Given the description of an element on the screen output the (x, y) to click on. 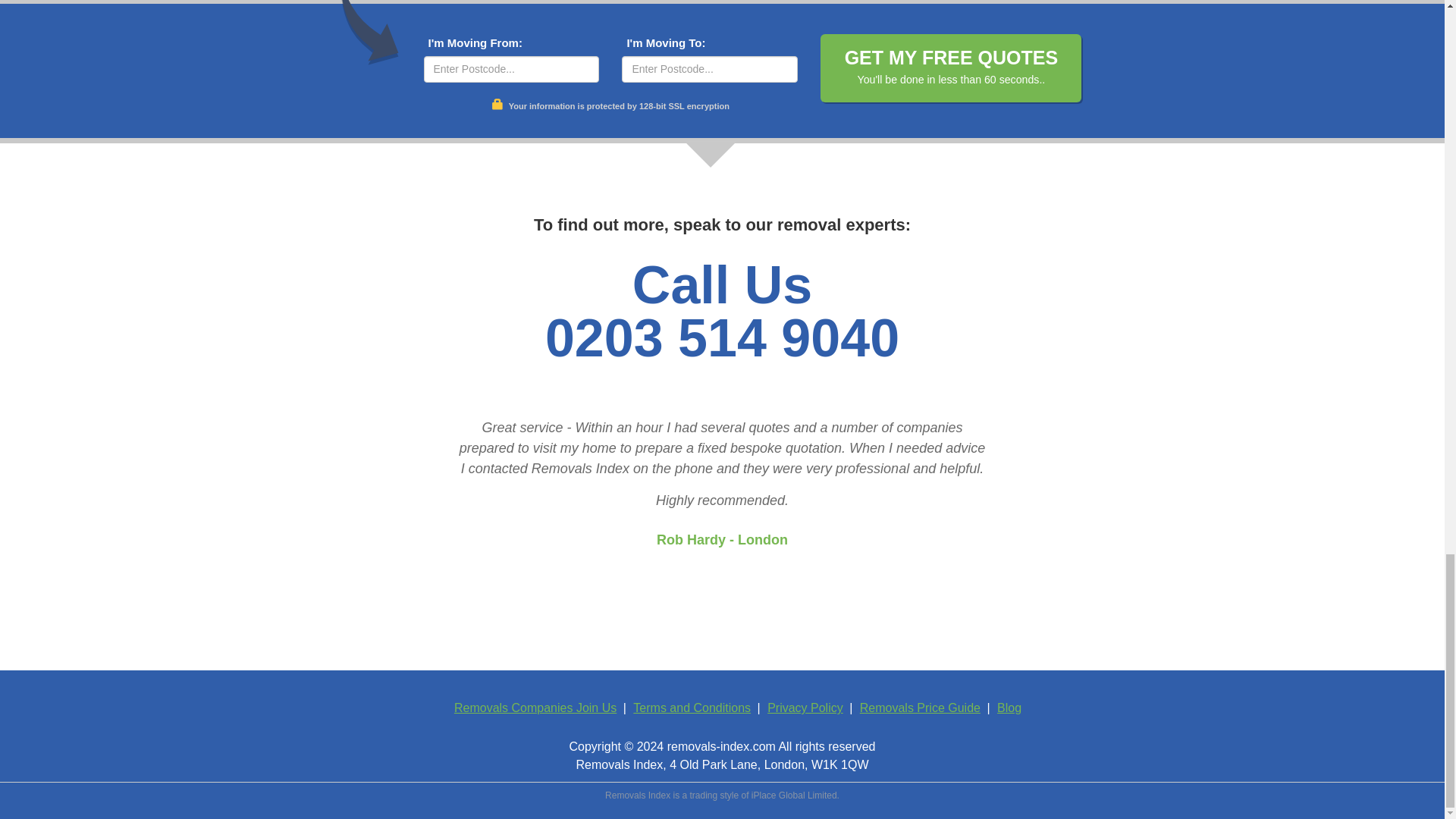
Removals Companies Join Us (534, 707)
Removals Price Guide (919, 707)
Blog (1009, 707)
Privacy Policy (805, 707)
Terms and Conditions (692, 707)
